Given the description of an element on the screen output the (x, y) to click on. 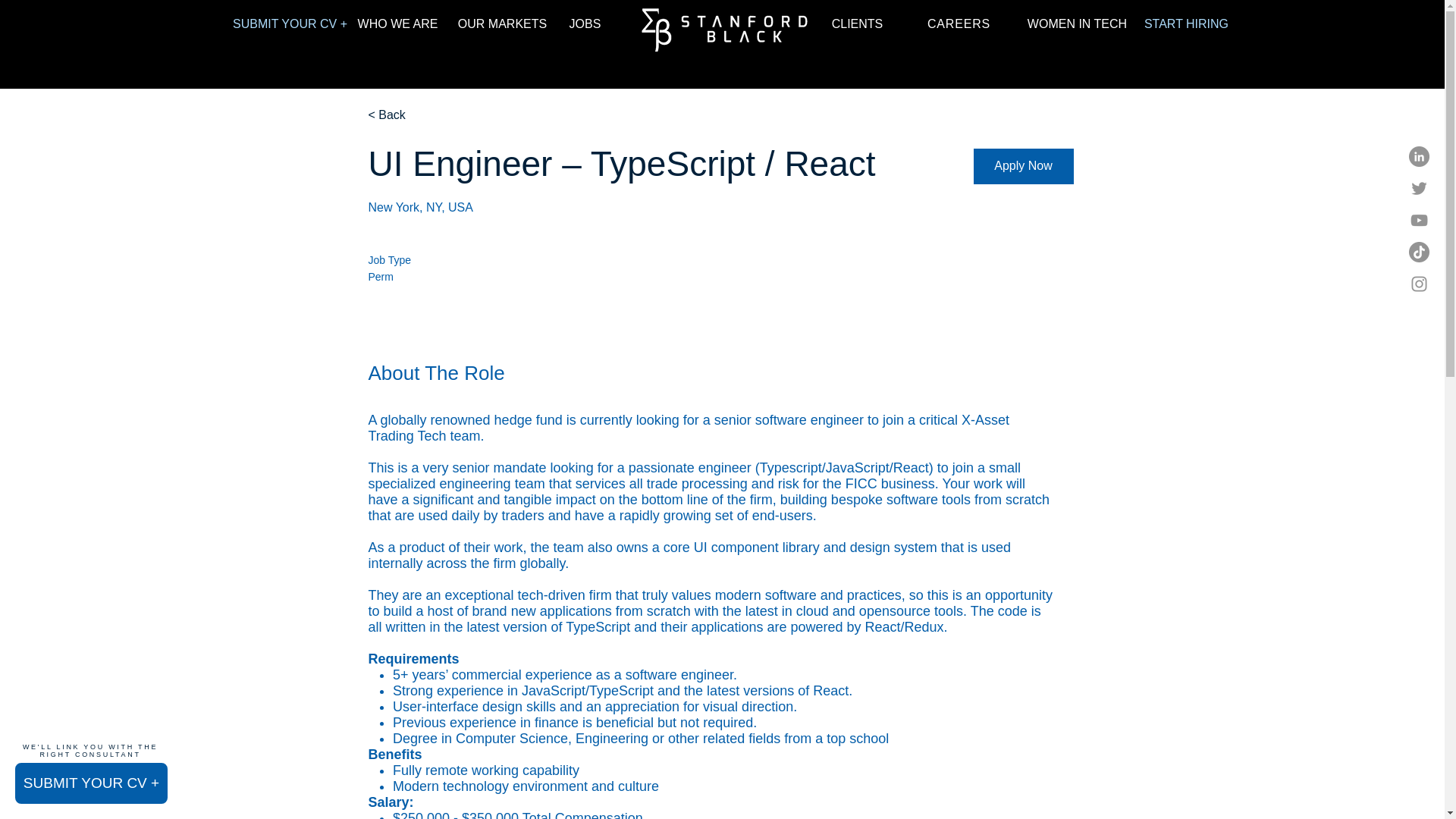
CLIENTS (856, 24)
WHO WE ARE (397, 24)
Apply Now (1024, 166)
JOBS (585, 24)
WOMEN IN TECH (1077, 24)
START HIRING (1185, 24)
CAREERS (959, 24)
OUR MARKETS (502, 24)
